Given the description of an element on the screen output the (x, y) to click on. 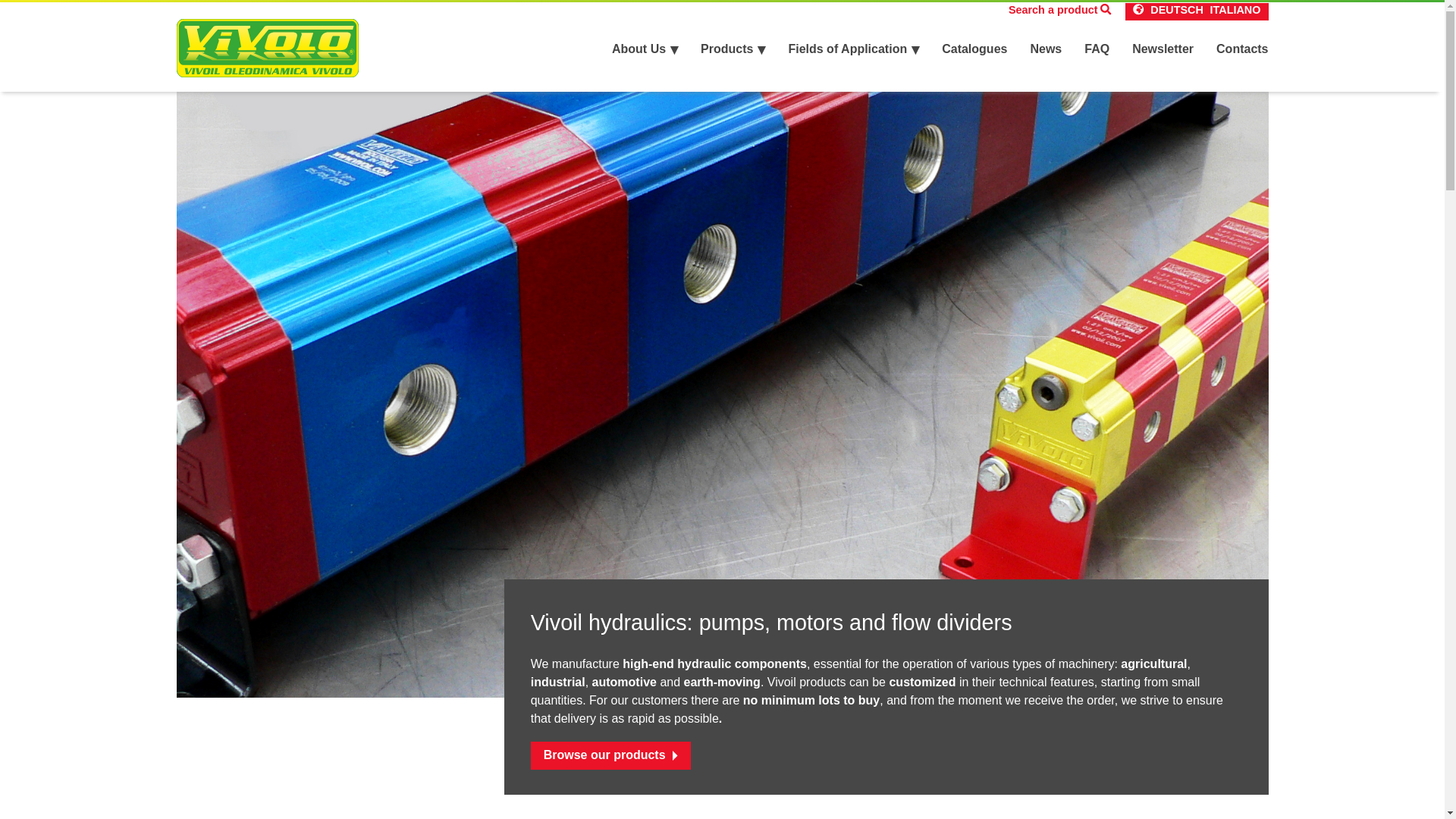
Fields of Application (853, 49)
Deutsch (1177, 10)
Italiano (1234, 10)
Products (732, 49)
Catalogues (973, 49)
DEUTSCH (1177, 10)
Browse our products (610, 755)
Newsletter (1163, 49)
Contacts (1242, 49)
News (1045, 49)
About Us (643, 49)
ITALIANO (1234, 10)
FAQ (1097, 49)
